Given the description of an element on the screen output the (x, y) to click on. 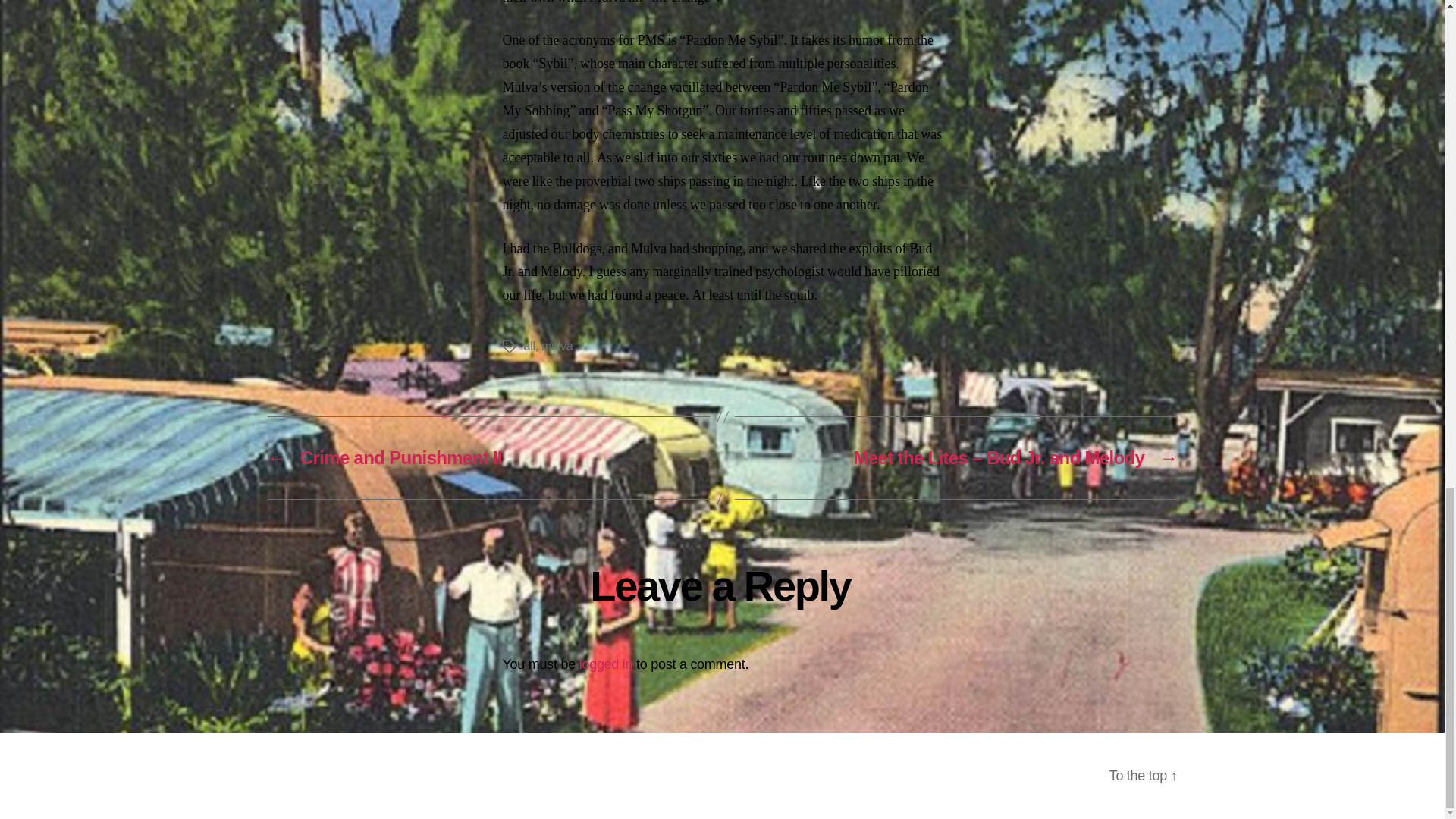
Tales From The Trailer Park (400, 775)
logged in (606, 663)
mulva (556, 345)
